Given the description of an element on the screen output the (x, y) to click on. 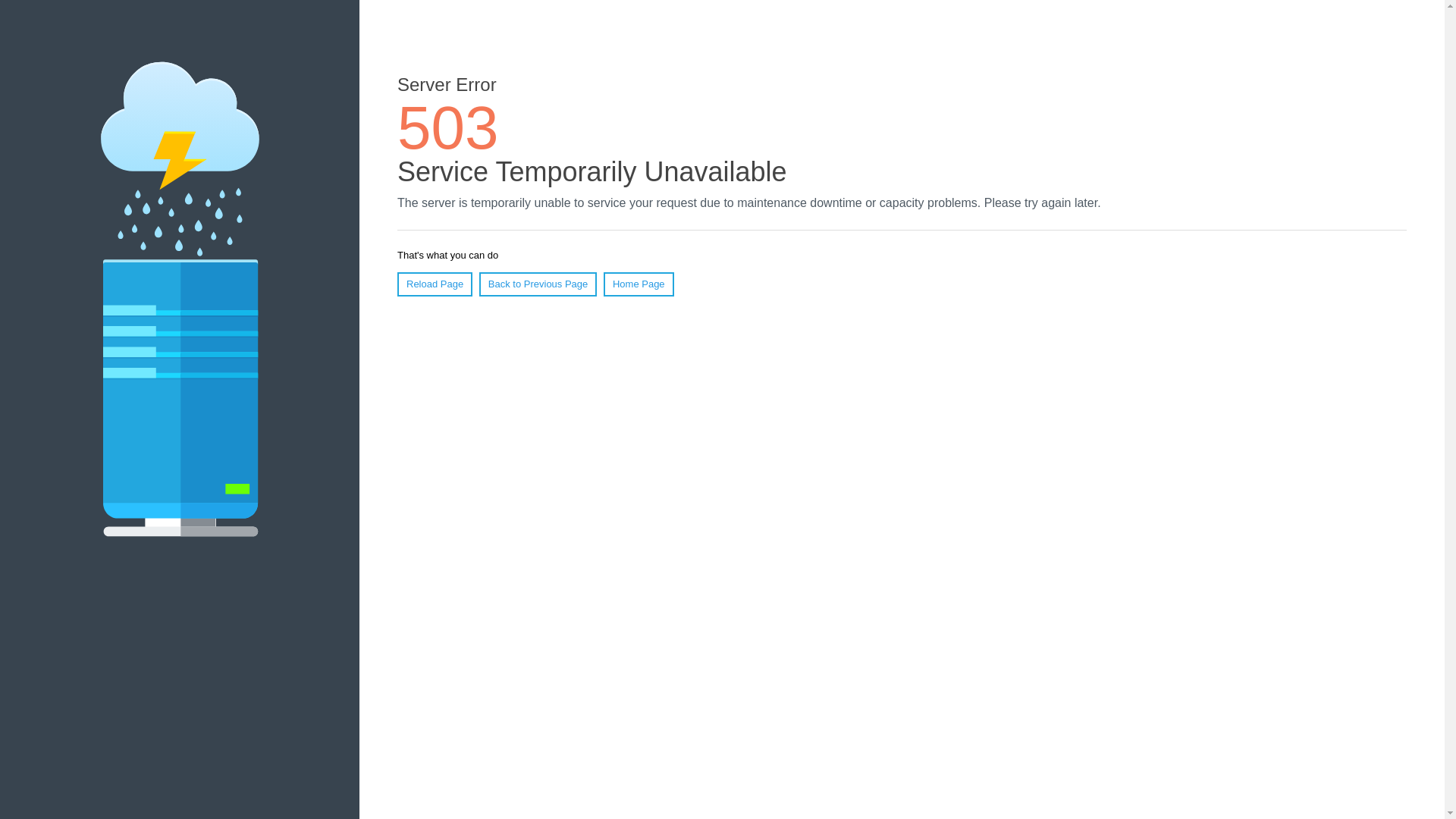
Back to Previous Page Element type: text (538, 284)
Reload Page Element type: text (434, 284)
Home Page Element type: text (638, 284)
